Given the description of an element on the screen output the (x, y) to click on. 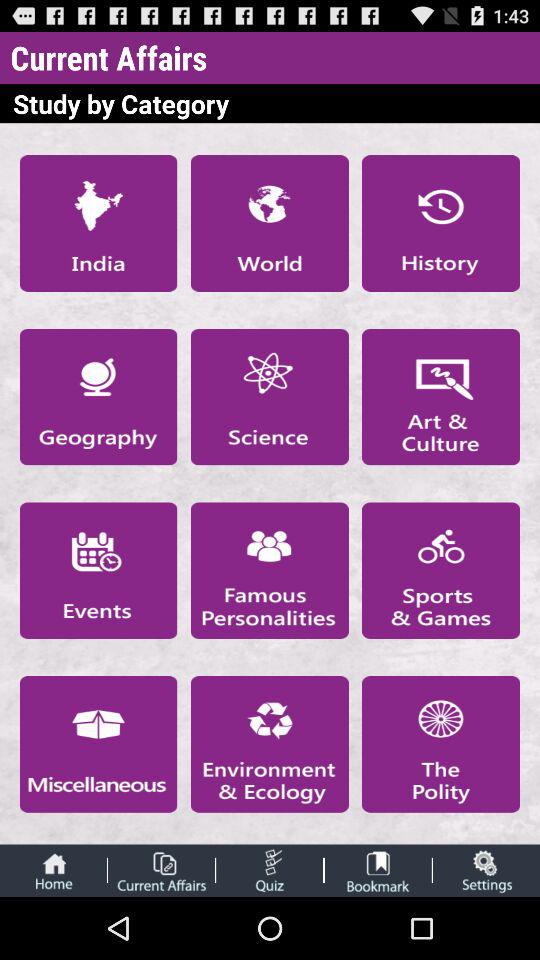
check events category (98, 570)
